Given the description of an element on the screen output the (x, y) to click on. 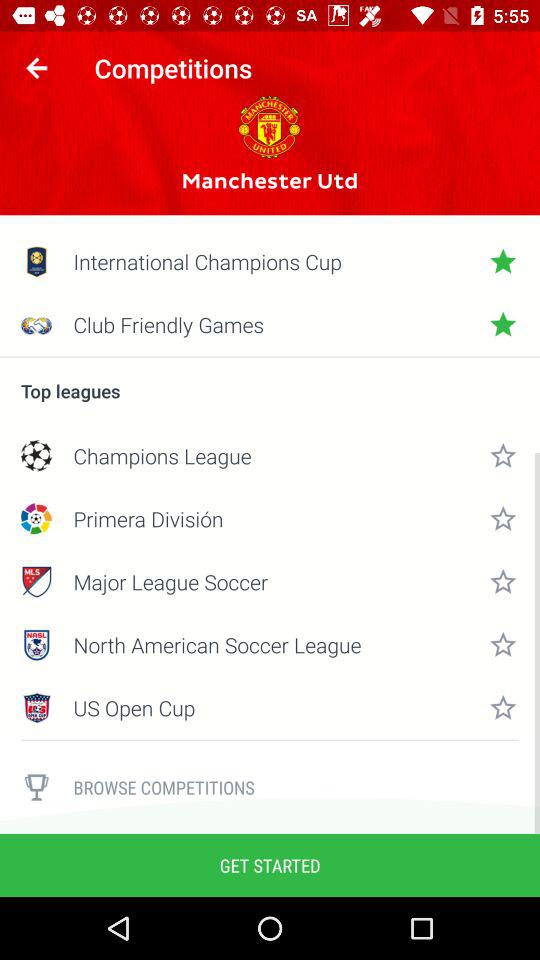
click item to the left of competitions item (36, 68)
